Given the description of an element on the screen output the (x, y) to click on. 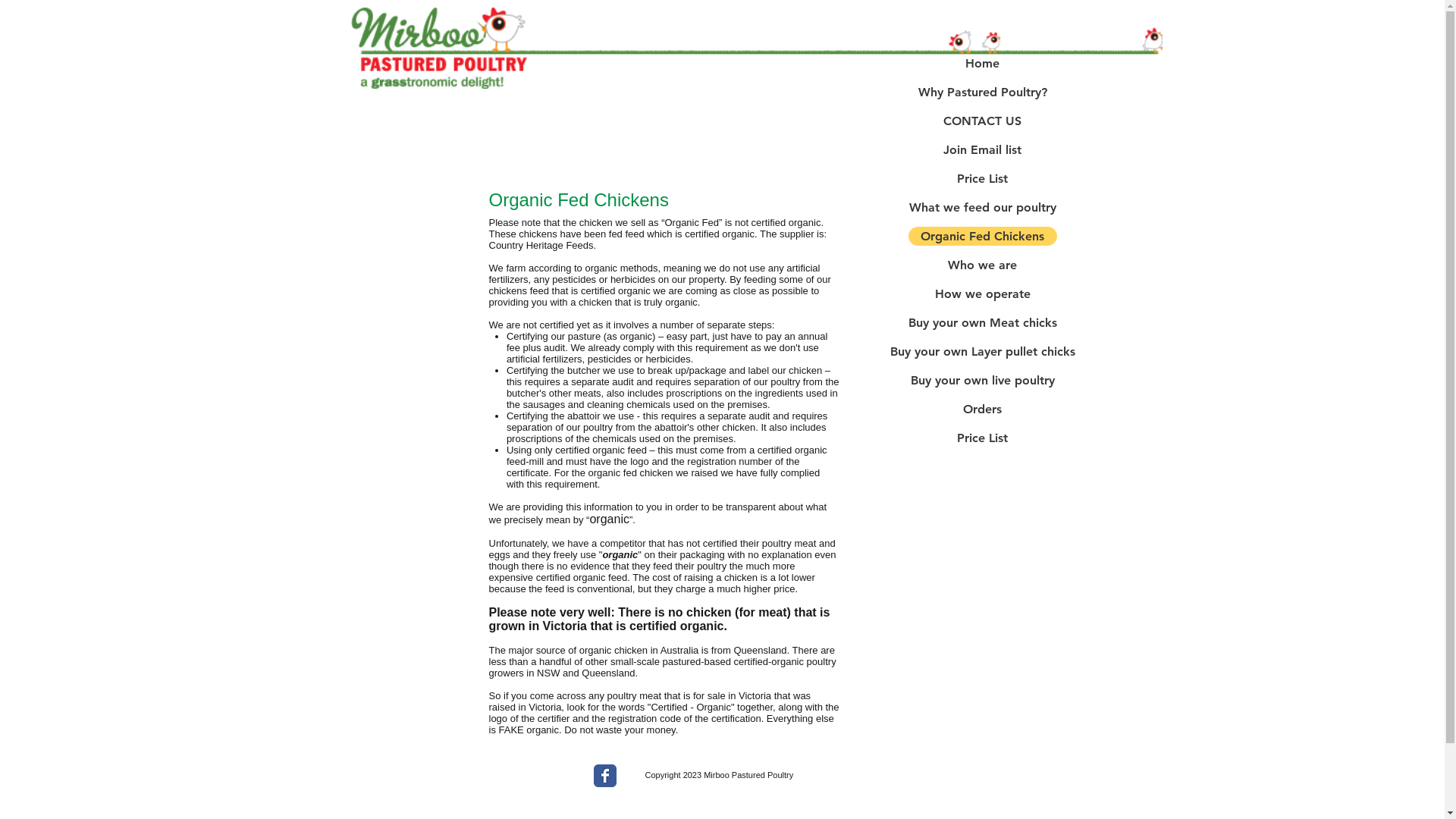
Buy your own Layer pullet chicks Element type: text (982, 351)
How we operate Element type: text (982, 293)
Buy your own Meat chicks Element type: text (982, 322)
header.gif Element type: hover (755, 47)
What we feed our poultry Element type: text (982, 206)
Price List Element type: text (982, 437)
CONTACT US Element type: text (982, 120)
Organic Fed Chickens Element type: text (982, 235)
Orders Element type: text (982, 408)
Join Email list Element type: text (982, 149)
Price List Element type: text (982, 178)
Home Element type: text (982, 62)
Who we are Element type: text (982, 264)
Buy your own live poultry Element type: text (982, 379)
Why Pastured Poultry? Element type: text (982, 91)
